Given the description of an element on the screen output the (x, y) to click on. 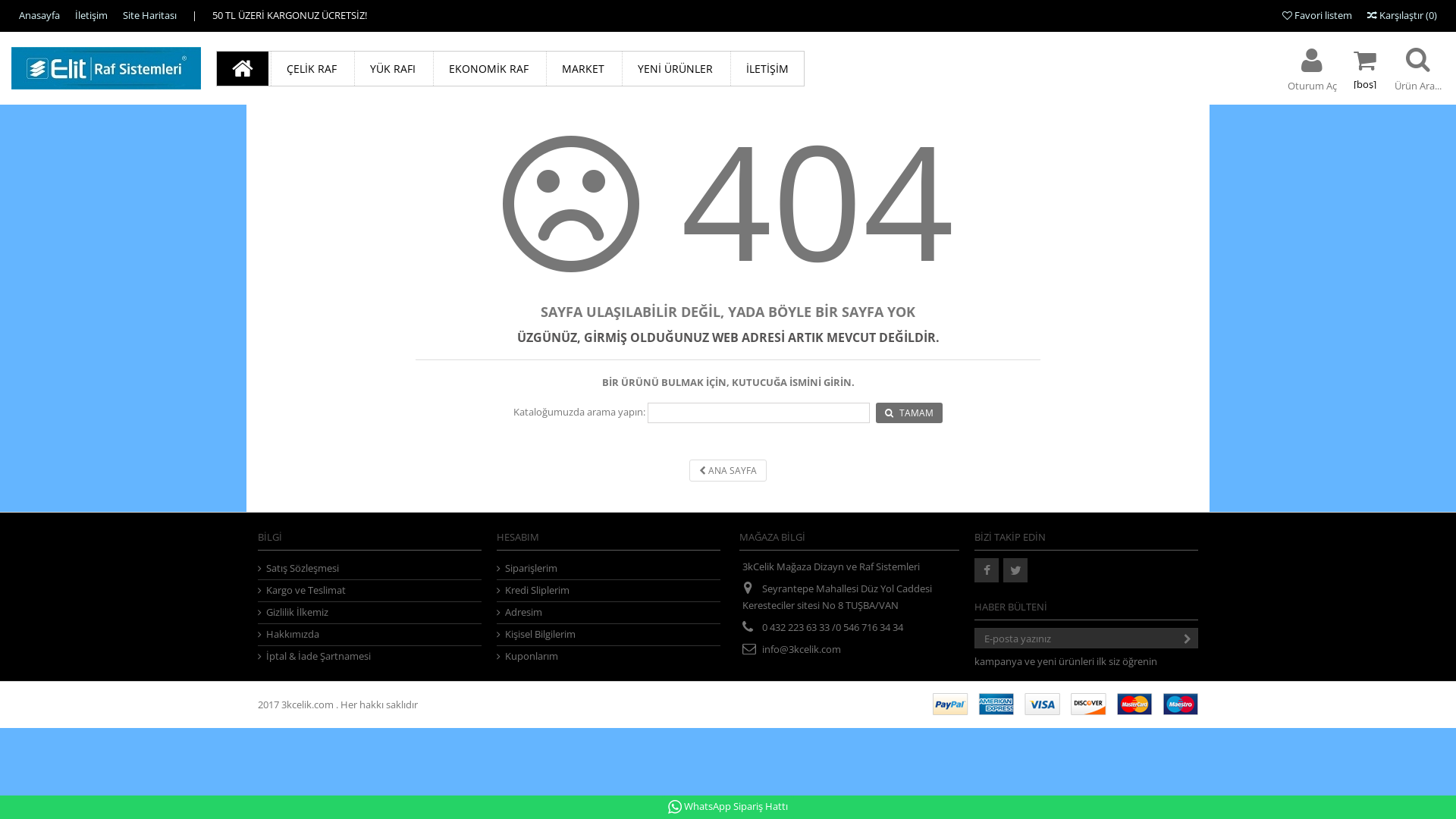
ANA SAYFA Element type: text (727, 470)
HESABIM Element type: text (517, 536)
Favori listem Element type: text (1316, 15)
3kcelik.com  Element type: text (308, 704)
Anasayfa Element type: text (38, 14)
Kredi Sliplerim Element type: text (608, 589)
Facebook Element type: hover (986, 570)
Adresim Element type: text (608, 611)
TAMAM Element type: text (908, 412)
Twitter Element type: hover (1015, 570)
MARKET Element type: text (582, 68)
Kargo ve Teslimat Element type: text (369, 589)
info@3kcelik.com Element type: text (801, 648)
